Given the description of an element on the screen output the (x, y) to click on. 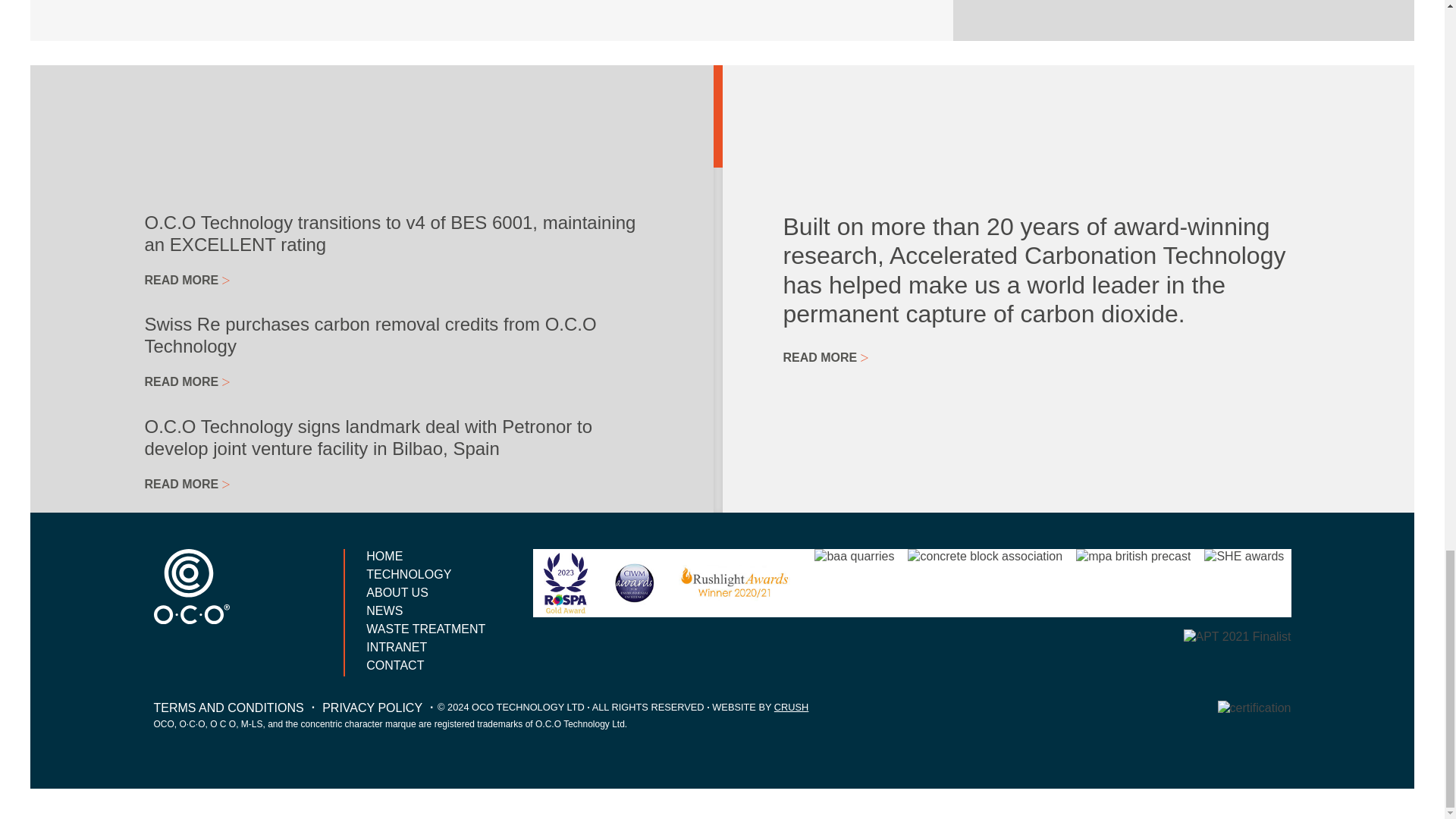
READ MORE (187, 563)
READ MORE (187, 381)
READ MORE (187, 279)
READ MORE (187, 723)
READ MORE (187, 483)
READ MORE (187, 803)
READ MORE (187, 644)
